Given the description of an element on the screen output the (x, y) to click on. 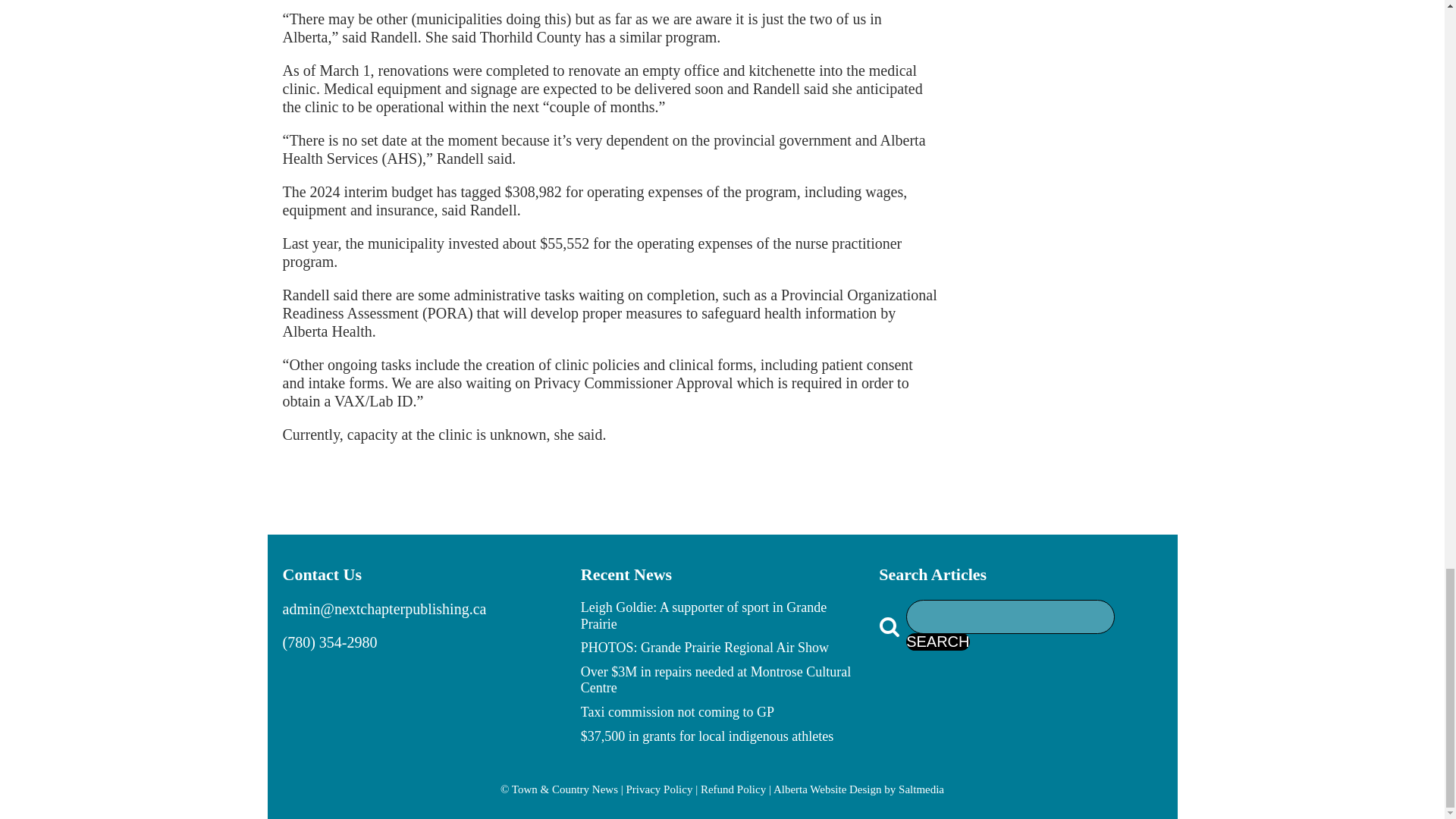
PHOTOS: Grande Prairie Regional Air Show (704, 651)
Taxi commission not coming to GP (677, 716)
Search (937, 641)
Leigh Goldie: A supporter of sport in Grande Prairie (721, 619)
